Given the description of an element on the screen output the (x, y) to click on. 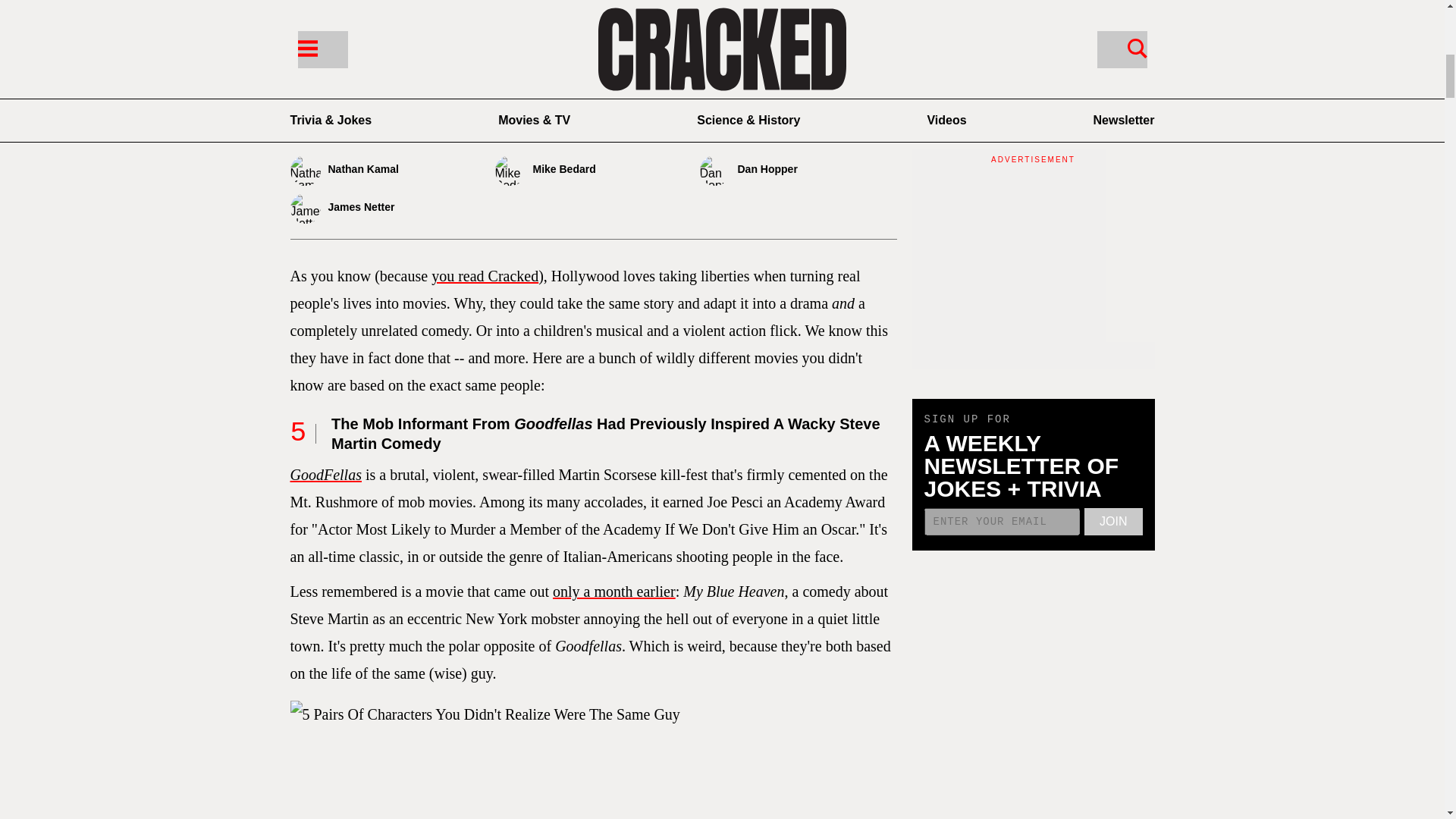
you read Cracked (484, 275)
Nathan Kamal (387, 170)
only a month earlier (614, 591)
Mike Bedard (593, 170)
GoodFellas (325, 474)
James Netter (387, 208)
Dan Hopper (797, 170)
